Given the description of an element on the screen output the (x, y) to click on. 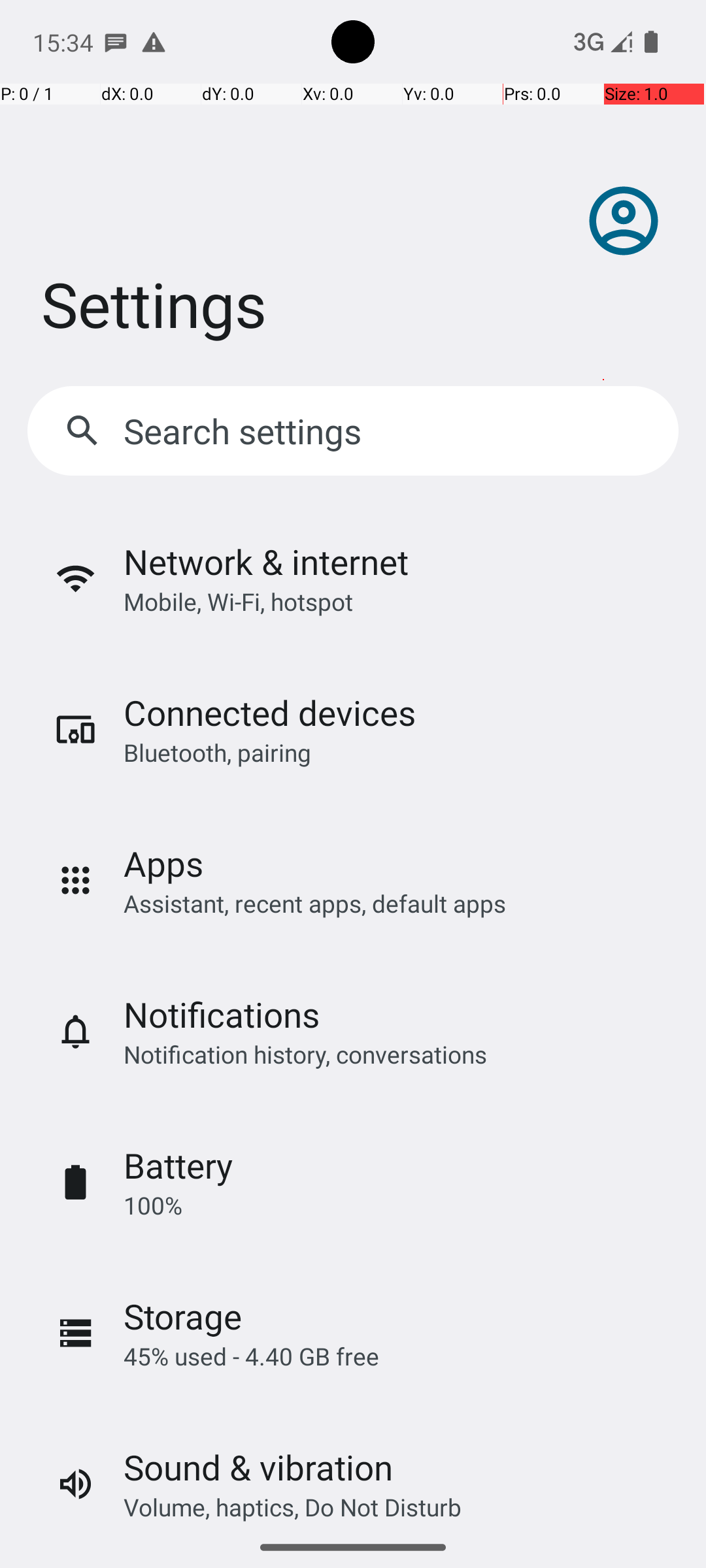
45% used - 4.40 GB free Element type: android.widget.TextView (251, 1355)
